Given the description of an element on the screen output the (x, y) to click on. 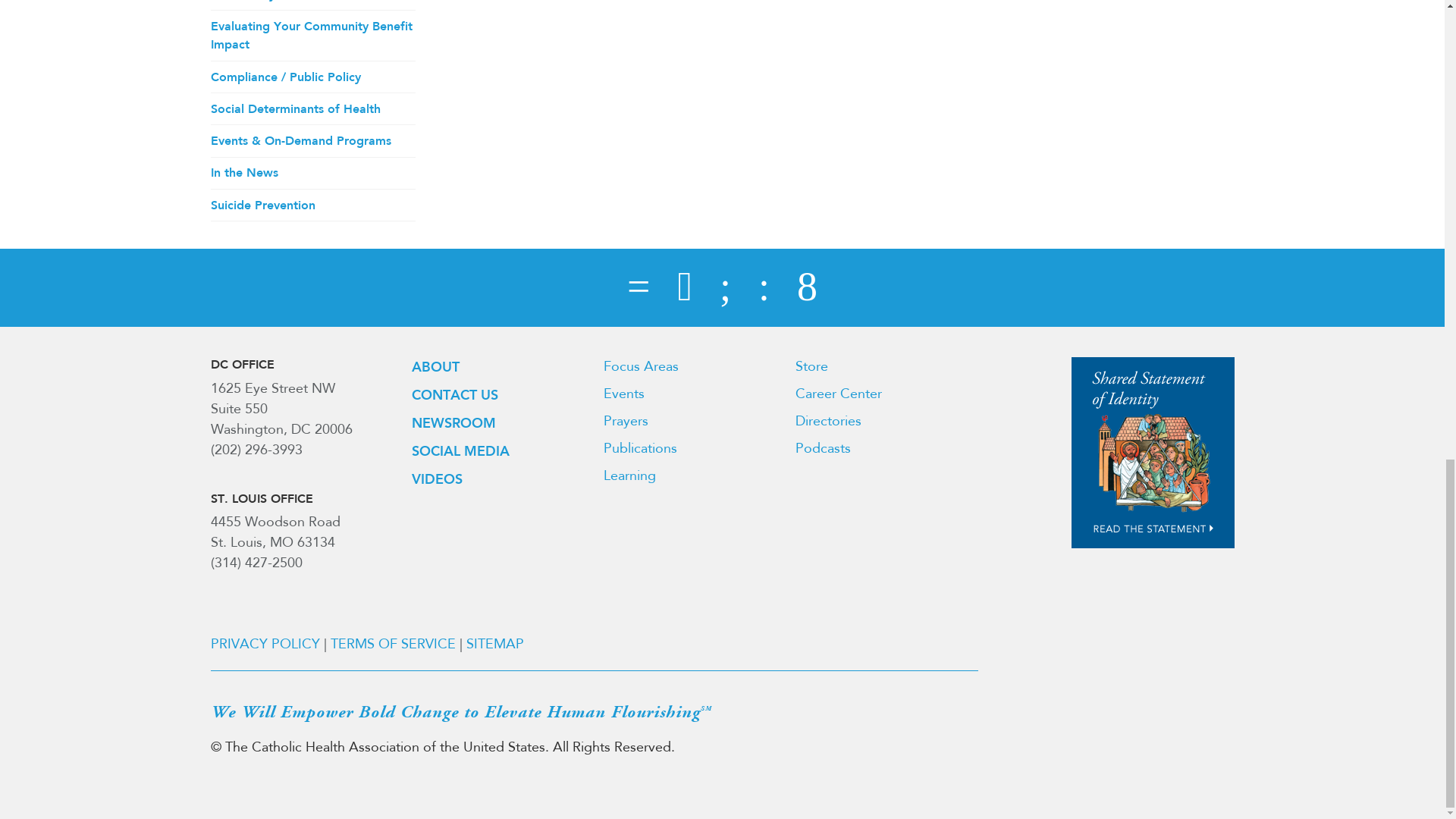
Instagram (806, 288)
LinkedIn (724, 288)
Twitter (685, 288)
Youtube (764, 288)
Facebook (638, 288)
Shared Statement of Identity (1153, 452)
